Given the description of an element on the screen output the (x, y) to click on. 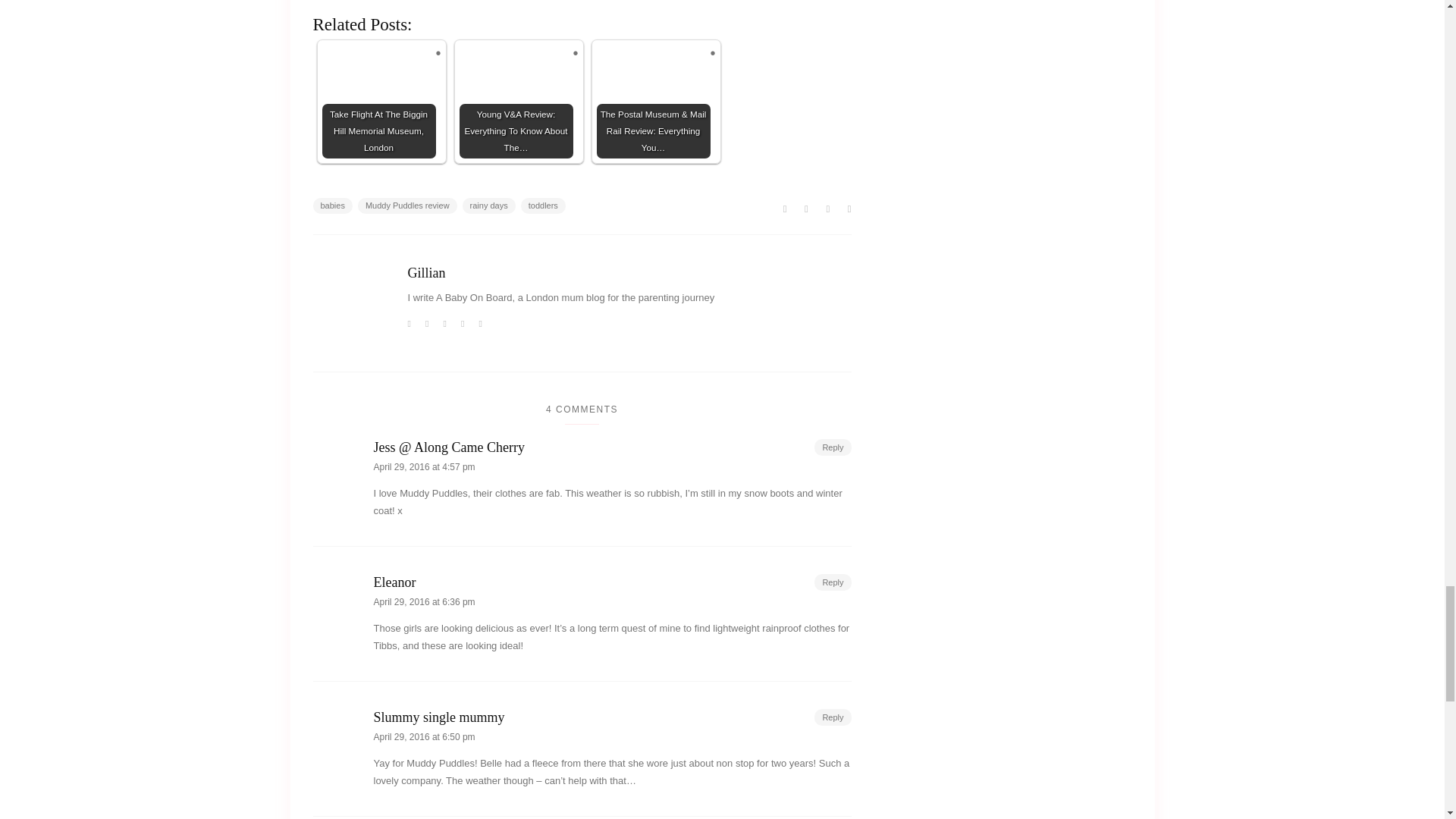
Eleanor (611, 582)
Slummy single mummy (611, 717)
Muddy Puddles review (407, 205)
Reply (831, 582)
rainy days (489, 205)
babies (332, 205)
Take Flight At The Biggin Hill Memorial Museum, London (378, 101)
Reply (831, 717)
toddlers (543, 205)
Reply (831, 446)
